Given the description of an element on the screen output the (x, y) to click on. 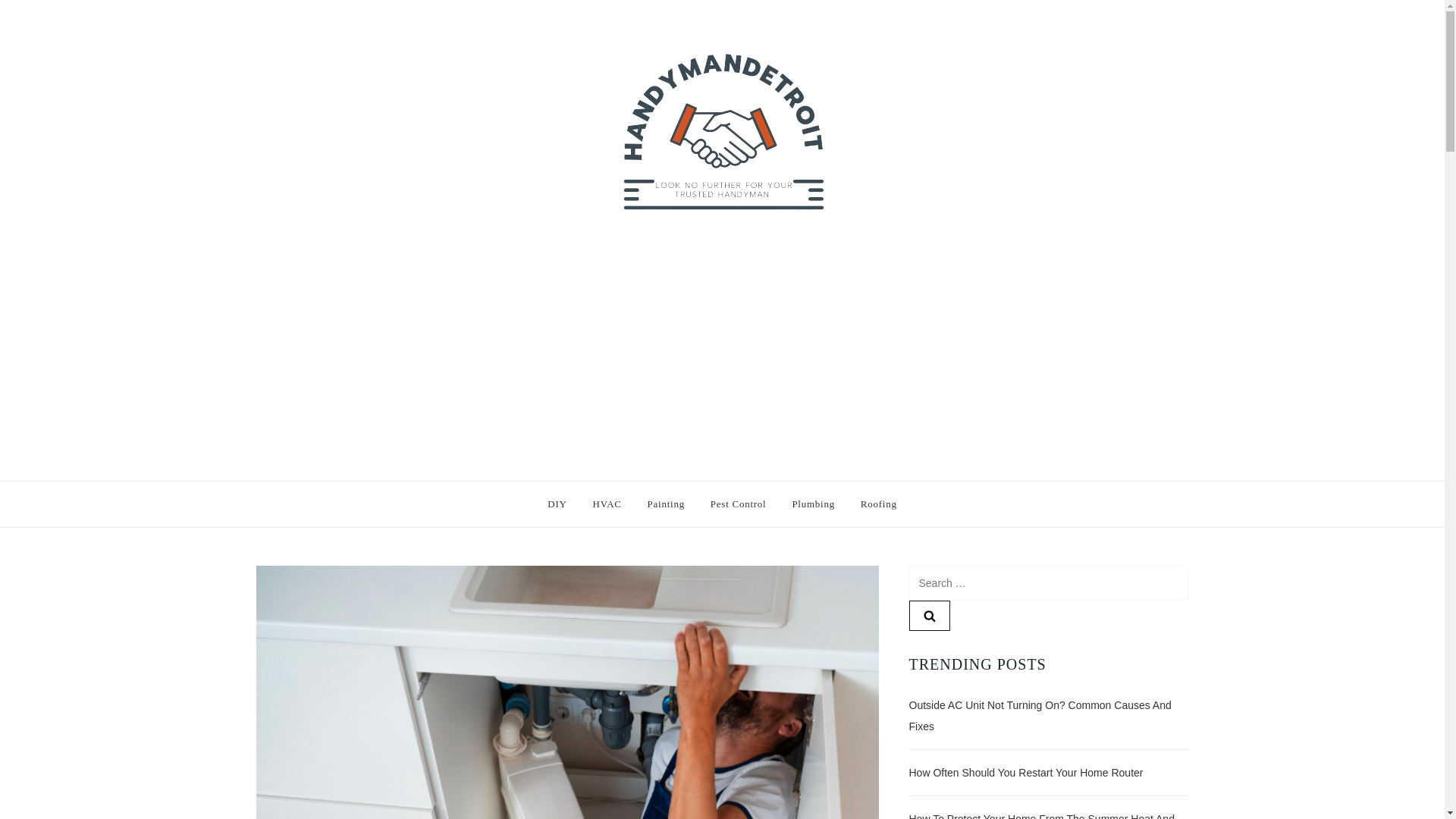
Pest Control (737, 504)
DIY (556, 504)
HVAC (606, 504)
Handyman Detroit (454, 470)
Search (928, 615)
How To Protect Your Home From The Summer Heat And Storms (1048, 813)
Outside AC Unit Not Turning On? Common Causes And Fixes (1048, 715)
Roofing (878, 504)
Plumbing (812, 504)
Painting (665, 504)
How Often Should You Restart Your Home Router (1025, 772)
